Given the description of an element on the screen output the (x, y) to click on. 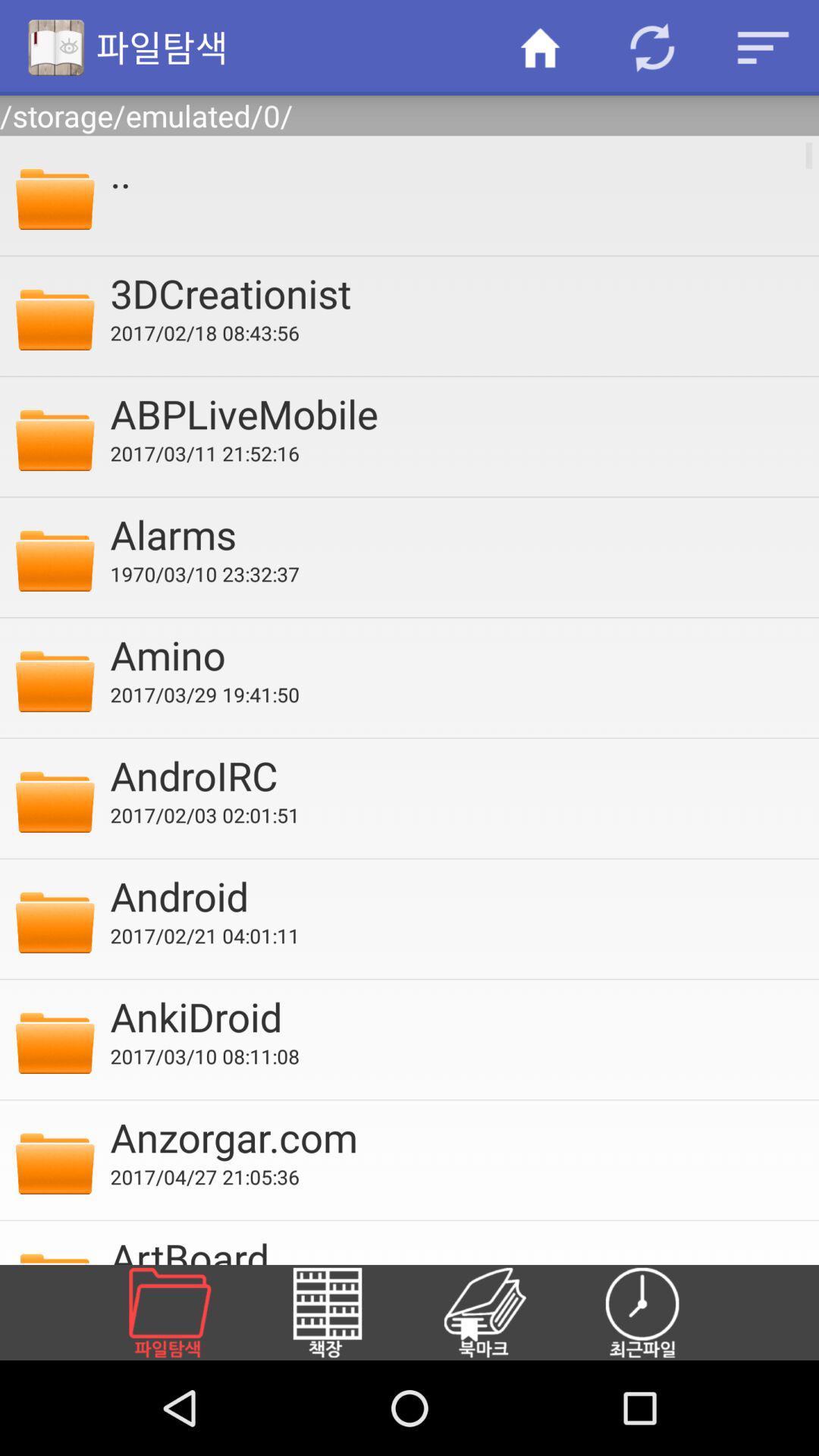
turn off icon below artboard item (660, 1312)
